Given the description of an element on the screen output the (x, y) to click on. 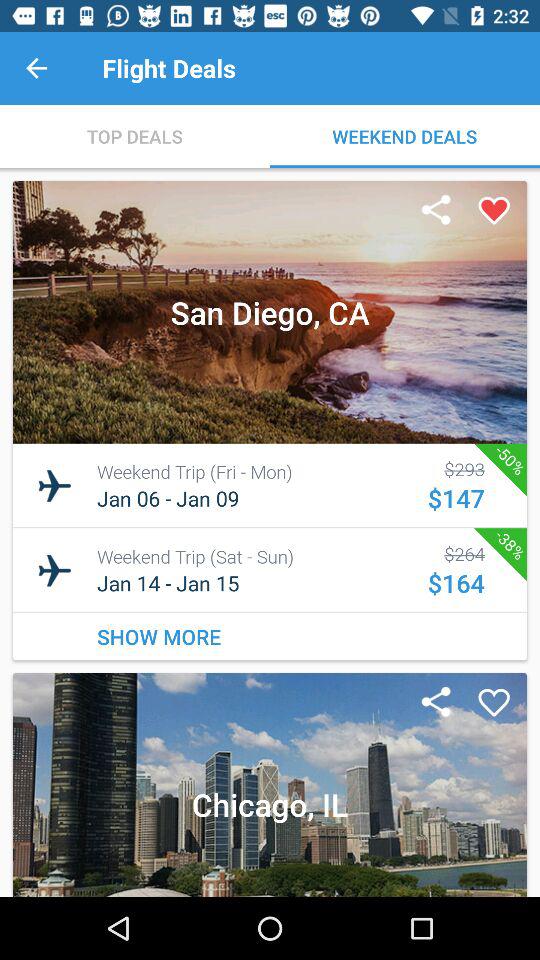
tap the show more icon (269, 636)
